Given the description of an element on the screen output the (x, y) to click on. 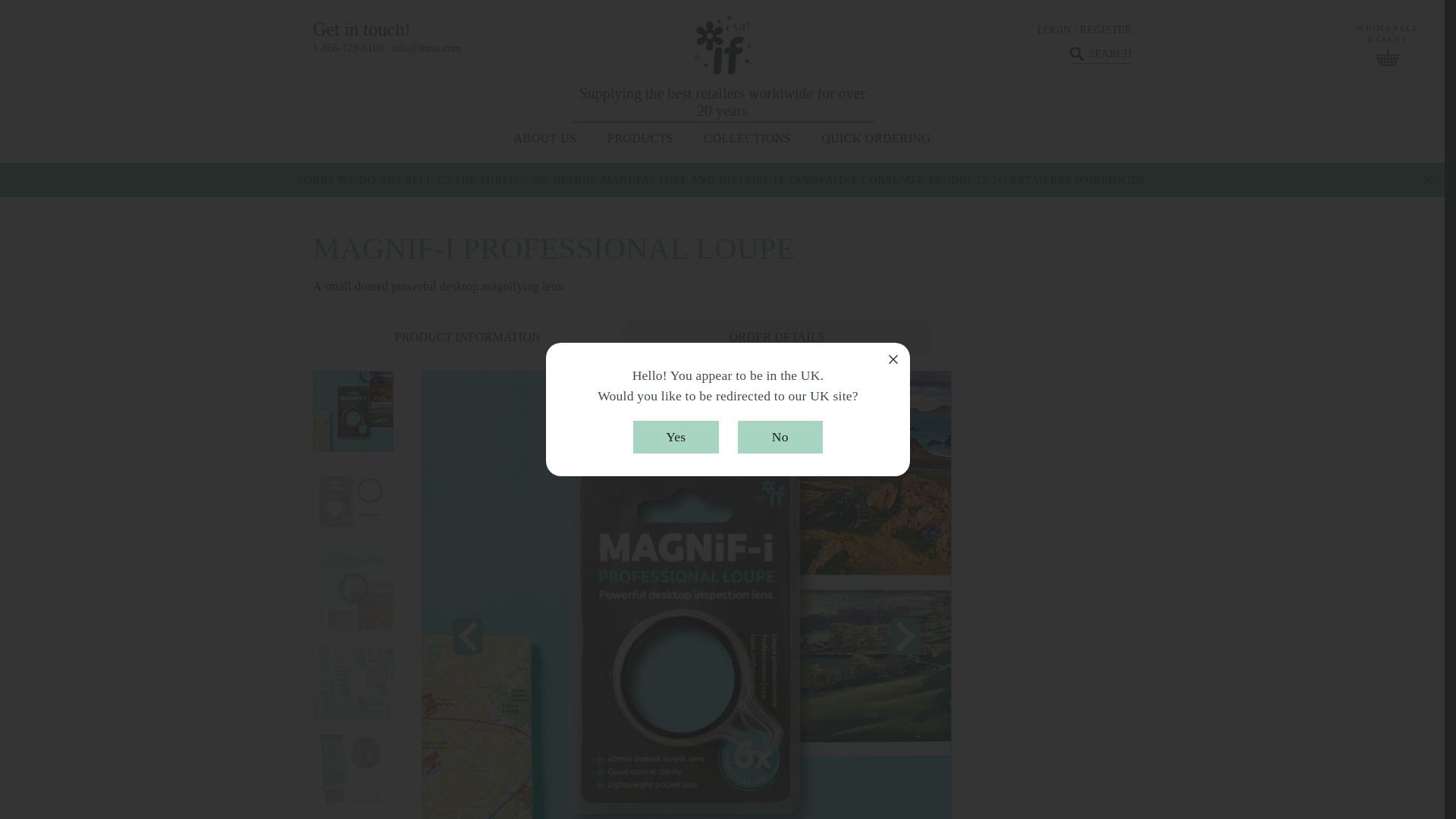
QUICK ORDERING (875, 138)
SEARCH (1101, 54)
WHOLESALE BASKET (1388, 44)
COLLECTIONS (746, 138)
Supplying the best retailers worldwide for over 20 years (721, 68)
1-866-729-6160 (348, 47)
PRODUCTS (640, 138)
ABOUT US (544, 138)
LOGIN (1053, 29)
REGISTER (1106, 29)
